Given the description of an element on the screen output the (x, y) to click on. 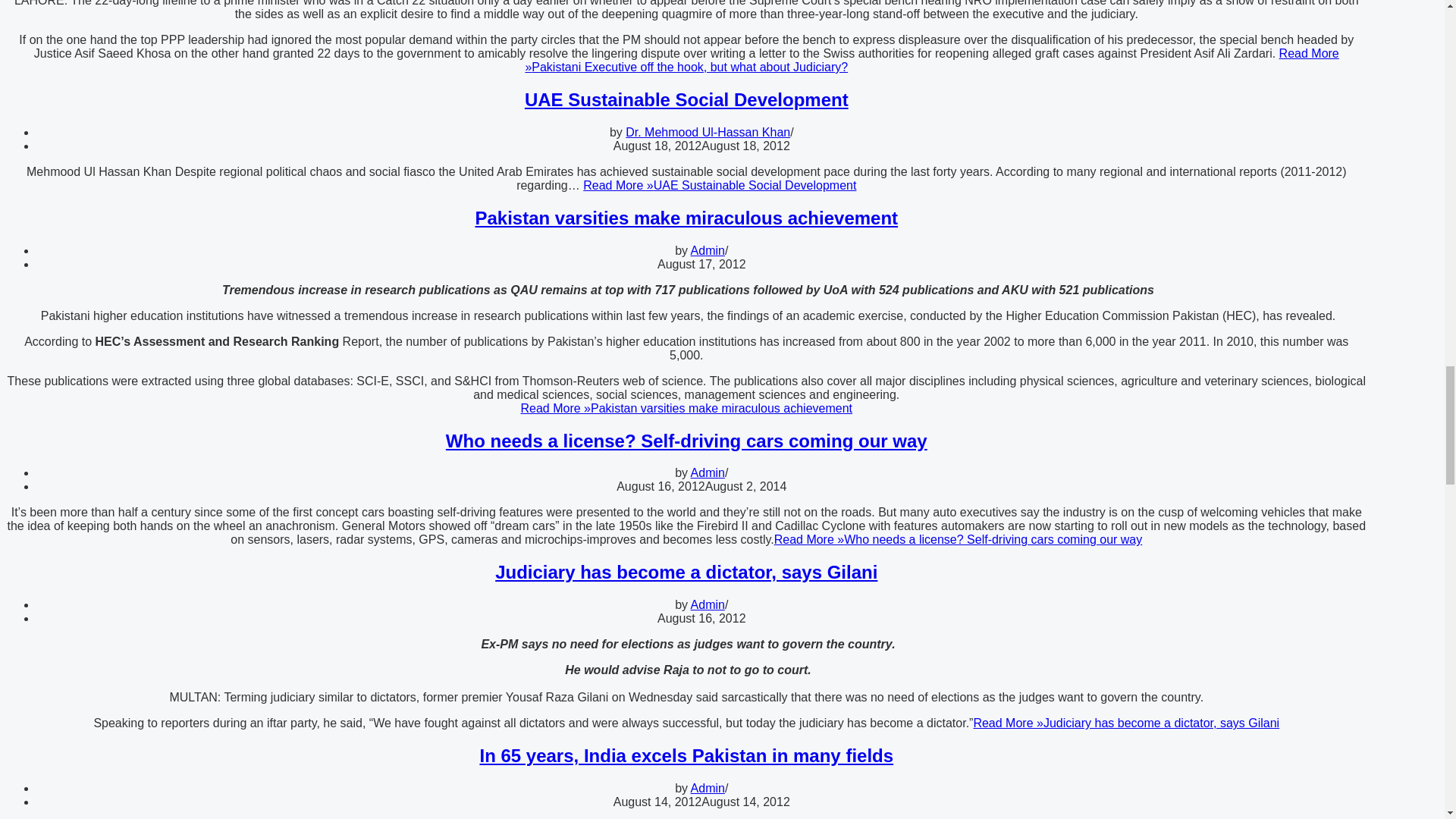
Posts by Dr. Mehmood Ul-Hassan Khan (708, 132)
Posts by Admin (707, 788)
Posts by Admin (707, 604)
Posts by Admin (707, 472)
Posts by Admin (707, 250)
